Given the description of an element on the screen output the (x, y) to click on. 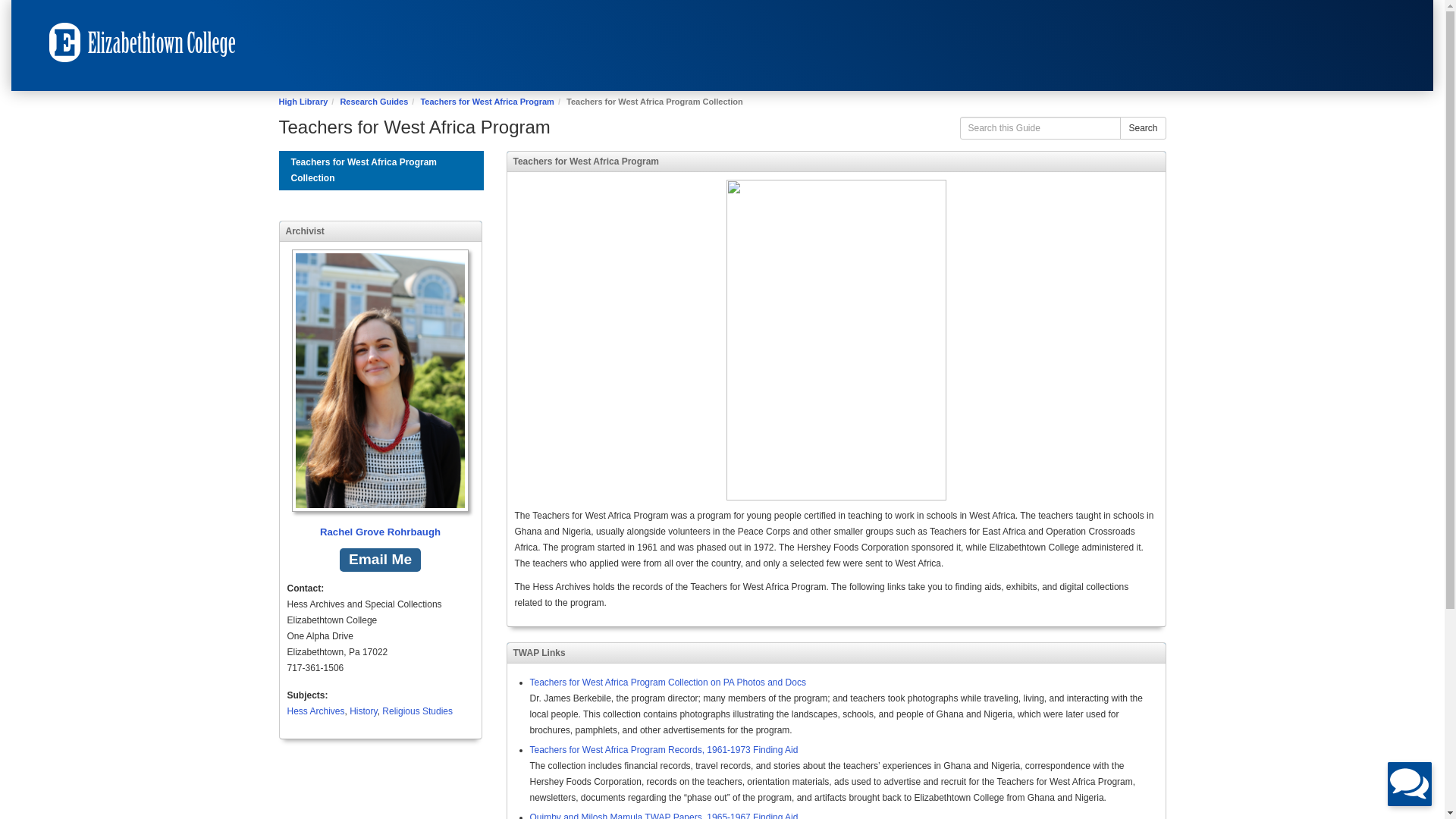
Teachers for West Africa Program Collection (381, 170)
Quimby and Milosh Mamula TWAP Papers, 1965-1967 Finding Aid (663, 815)
Chat is Offline (1409, 783)
Hess Archives (314, 710)
Religious Studies (416, 710)
Email Me (379, 559)
Teachers for West Africa Program (486, 101)
History (363, 710)
Research Guides (373, 101)
Search (1142, 128)
High Library (304, 101)
